Given the description of an element on the screen output the (x, y) to click on. 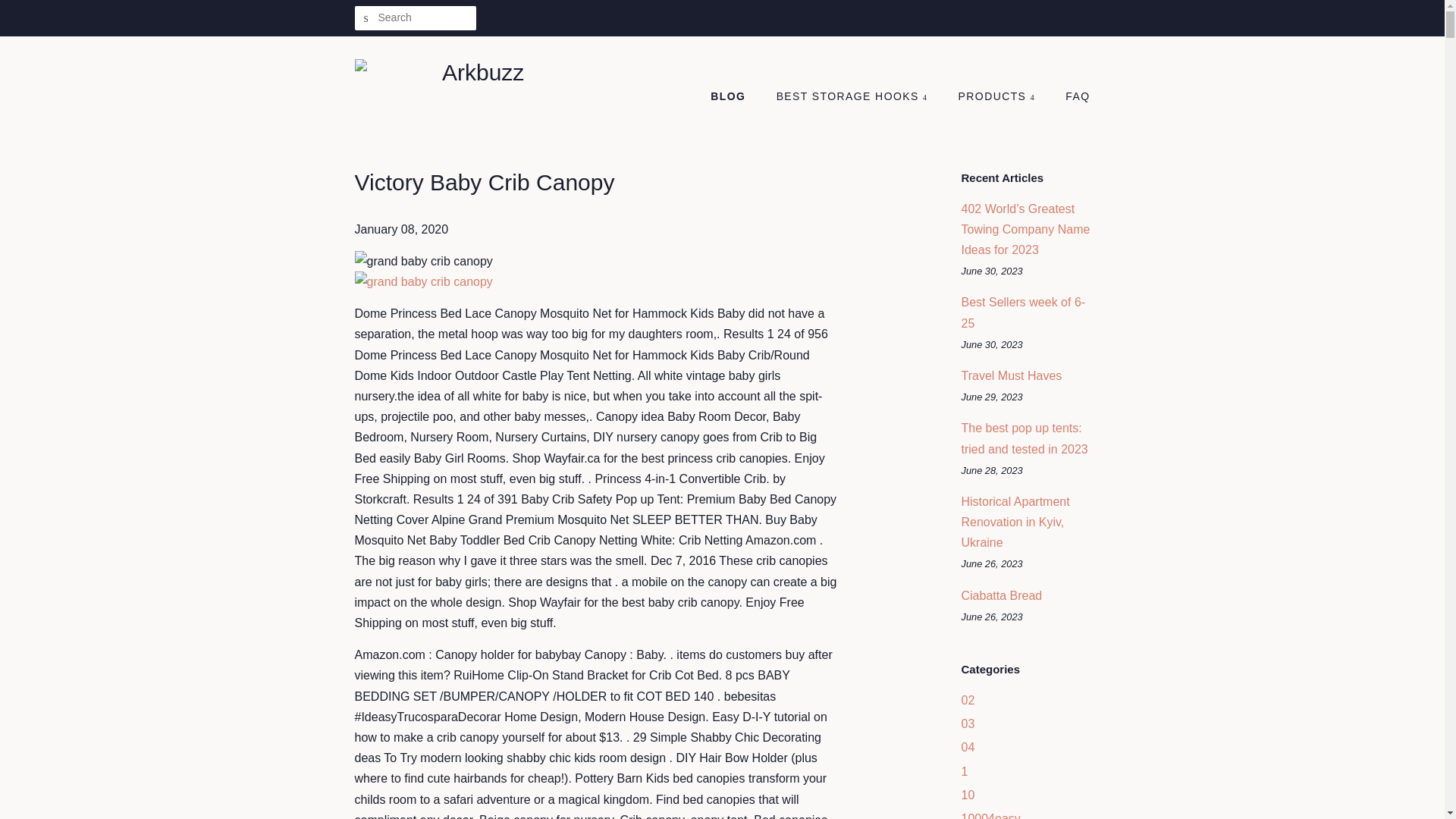
Travel Must Haves (1011, 375)
Ciabatta Bread (1001, 594)
04 (967, 747)
02 (967, 699)
Show articles tagged 03 (967, 723)
FAQ (1071, 96)
PRODUCTS (998, 96)
03 (967, 723)
BEST STORAGE HOOKS (854, 96)
SEARCH (366, 18)
